Given the description of an element on the screen output the (x, y) to click on. 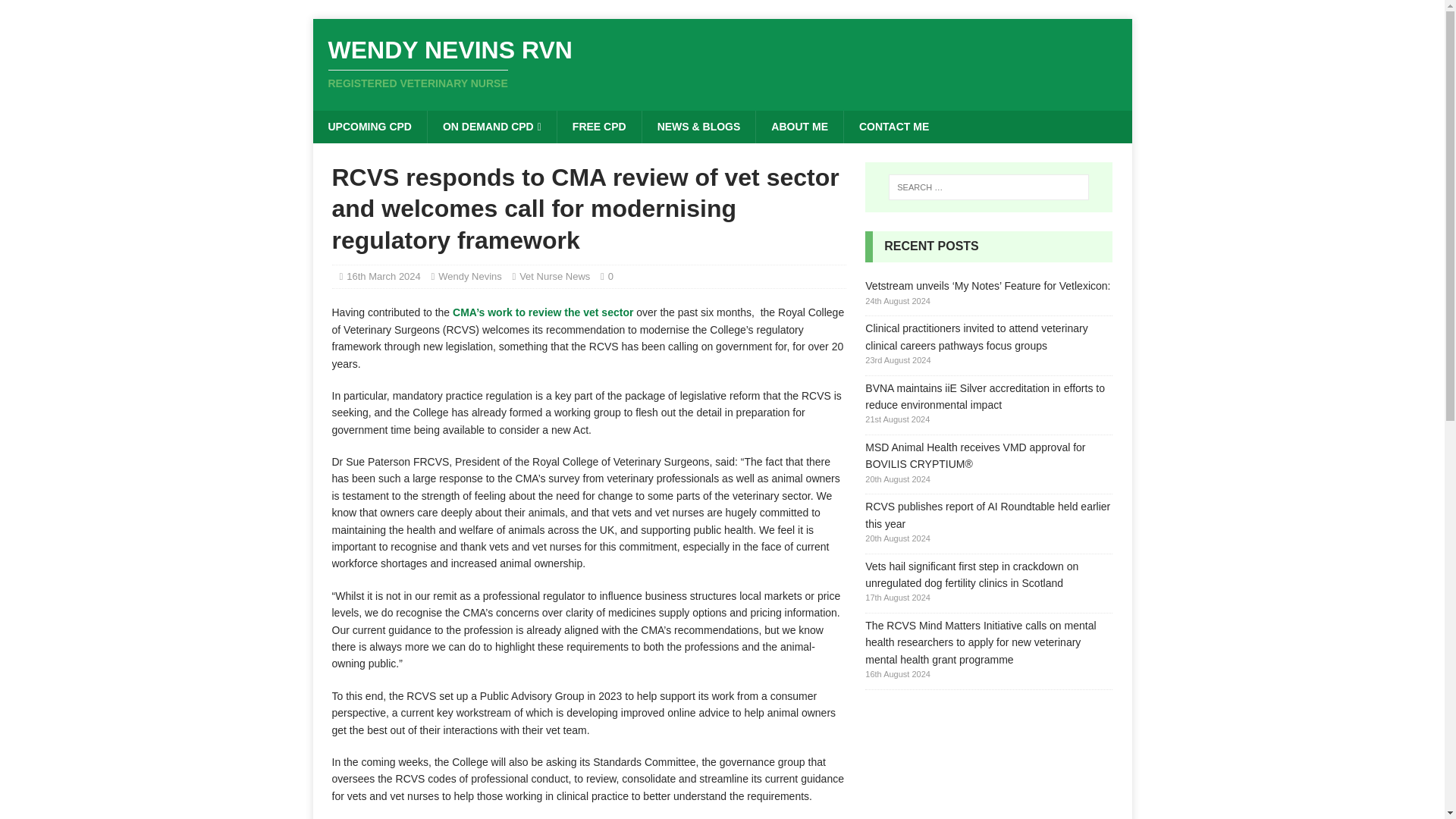
16th March 2024 (721, 63)
FREE CPD (383, 276)
Wendy Nevins RVN (599, 126)
ABOUT ME (721, 63)
Vet Nurse News (799, 126)
CONTACT ME (554, 276)
UPCOMING CPD (893, 126)
